Given the description of an element on the screen output the (x, y) to click on. 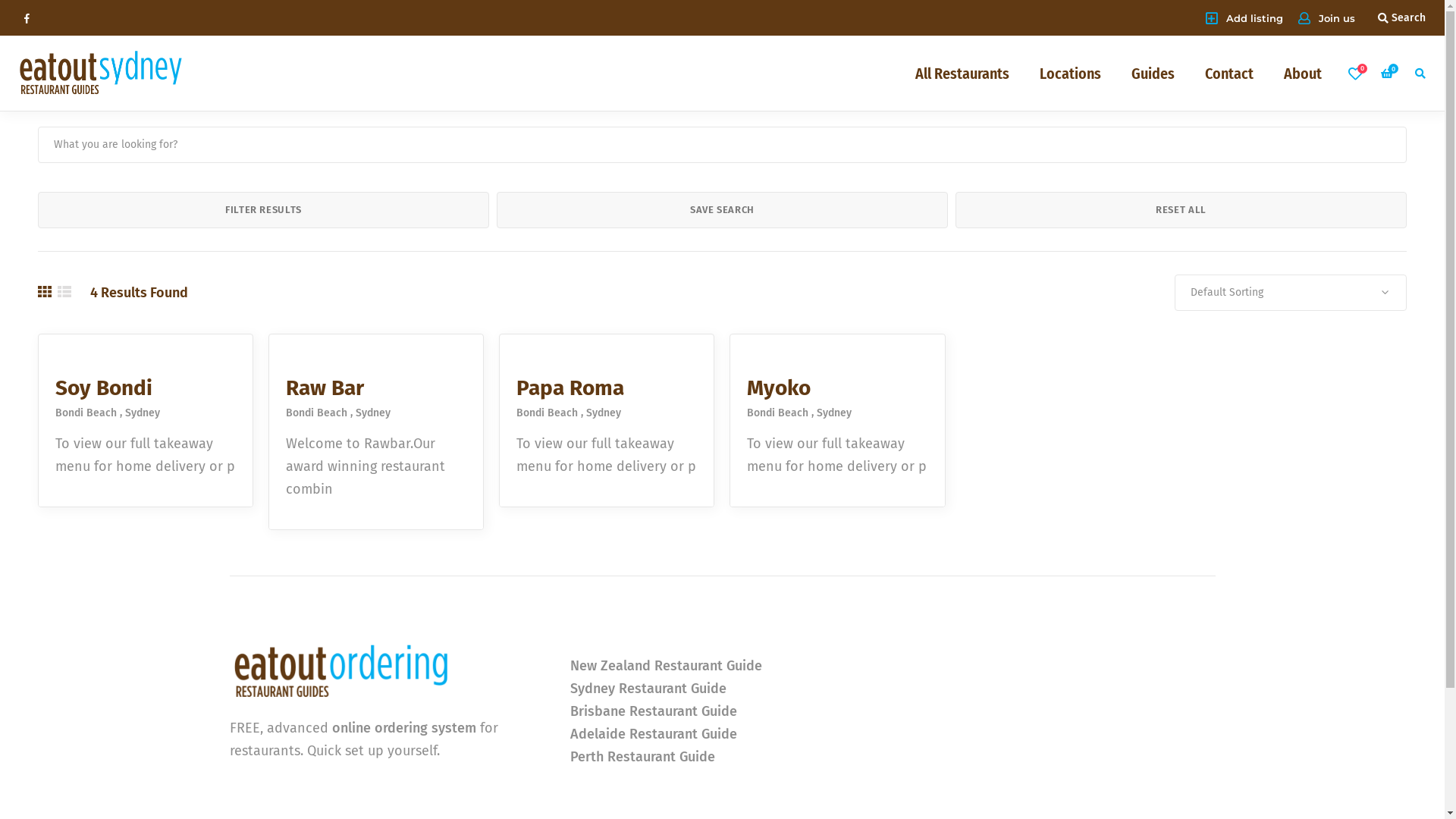
Adelaide Restaurant Guide Element type: text (653, 733)
Add listing Element type: text (1244, 17)
Soy Bondi Element type: text (103, 387)
Contact Element type: text (1228, 72)
Bondi Beach Element type: text (549, 412)
Perth Restaurant Guide Element type: text (642, 756)
Locations Element type: text (1070, 72)
Brisbane Restaurant Guide Element type: text (653, 710)
FILTER RESULTS Element type: text (263, 209)
Sydney Element type: text (833, 412)
Sydney Element type: text (372, 412)
New Zealand Restaurant Guide Element type: text (666, 665)
Sydney Element type: text (603, 412)
0 Element type: text (1388, 72)
Bondi Beach Element type: text (779, 412)
Raw Bar Element type: text (324, 387)
SAVE SEARCH Element type: text (721, 209)
Myoko Element type: text (778, 387)
Search Element type: text (1401, 17)
All Restaurants Element type: text (962, 72)
Sydney Restaurant Guide Element type: text (648, 688)
Bondi Beach Element type: text (88, 412)
RESET ALL Element type: text (1180, 209)
Sydney Element type: text (142, 412)
Guides Element type: text (1152, 72)
Papa Roma Element type: text (570, 387)
online ordering system Element type: text (404, 727)
0 Element type: text (1354, 72)
Join us Element type: text (1326, 18)
Bondi Beach Element type: text (318, 412)
About Element type: text (1302, 72)
